Given the description of an element on the screen output the (x, y) to click on. 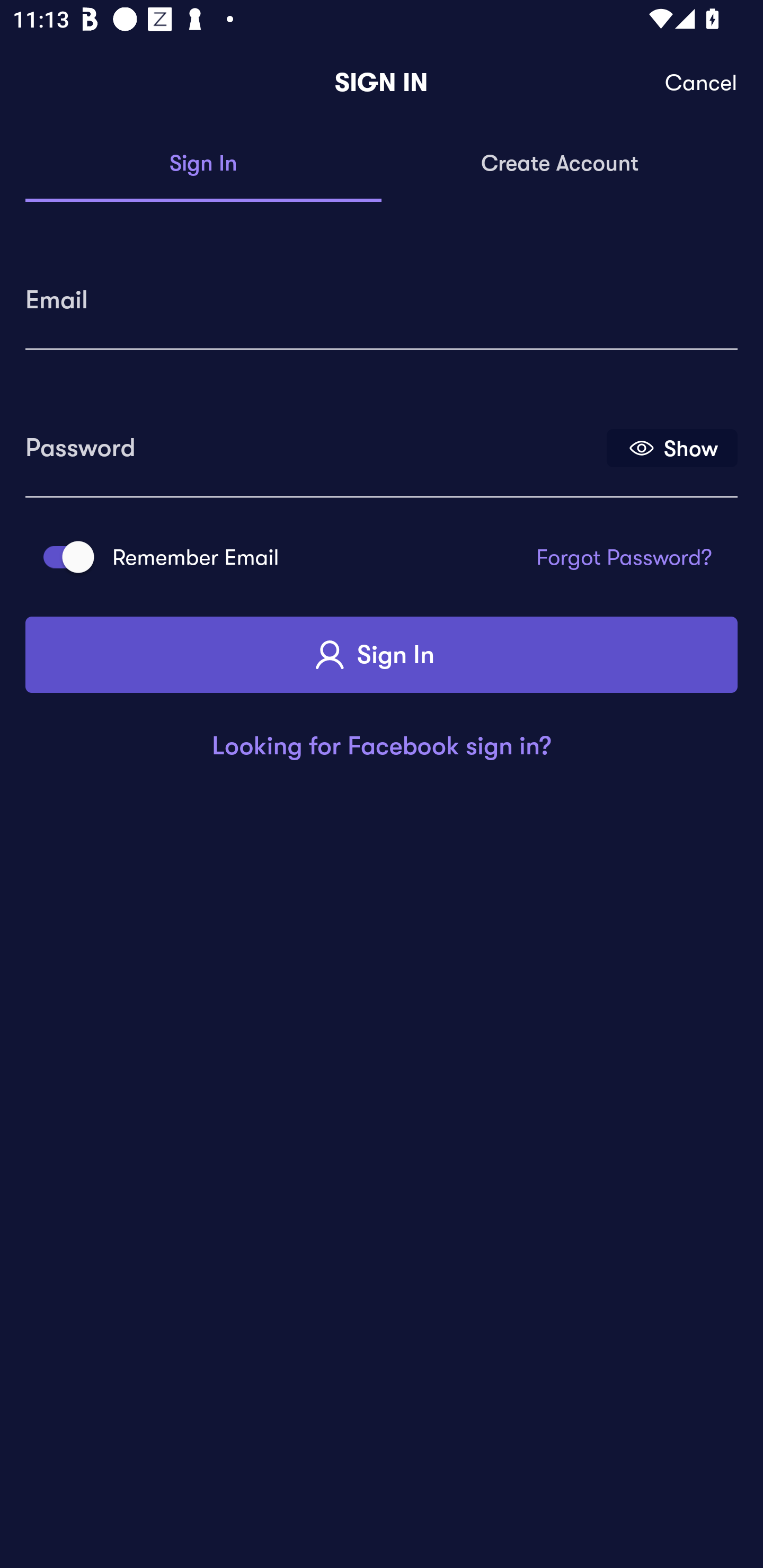
Cancel (701, 82)
Sign In (203, 164)
Create Account (559, 164)
Email (381, 293)
Password (314, 441)
Show Password Show (671, 447)
Remember Email (62, 557)
Sign In (381, 654)
